Given the description of an element on the screen output the (x, y) to click on. 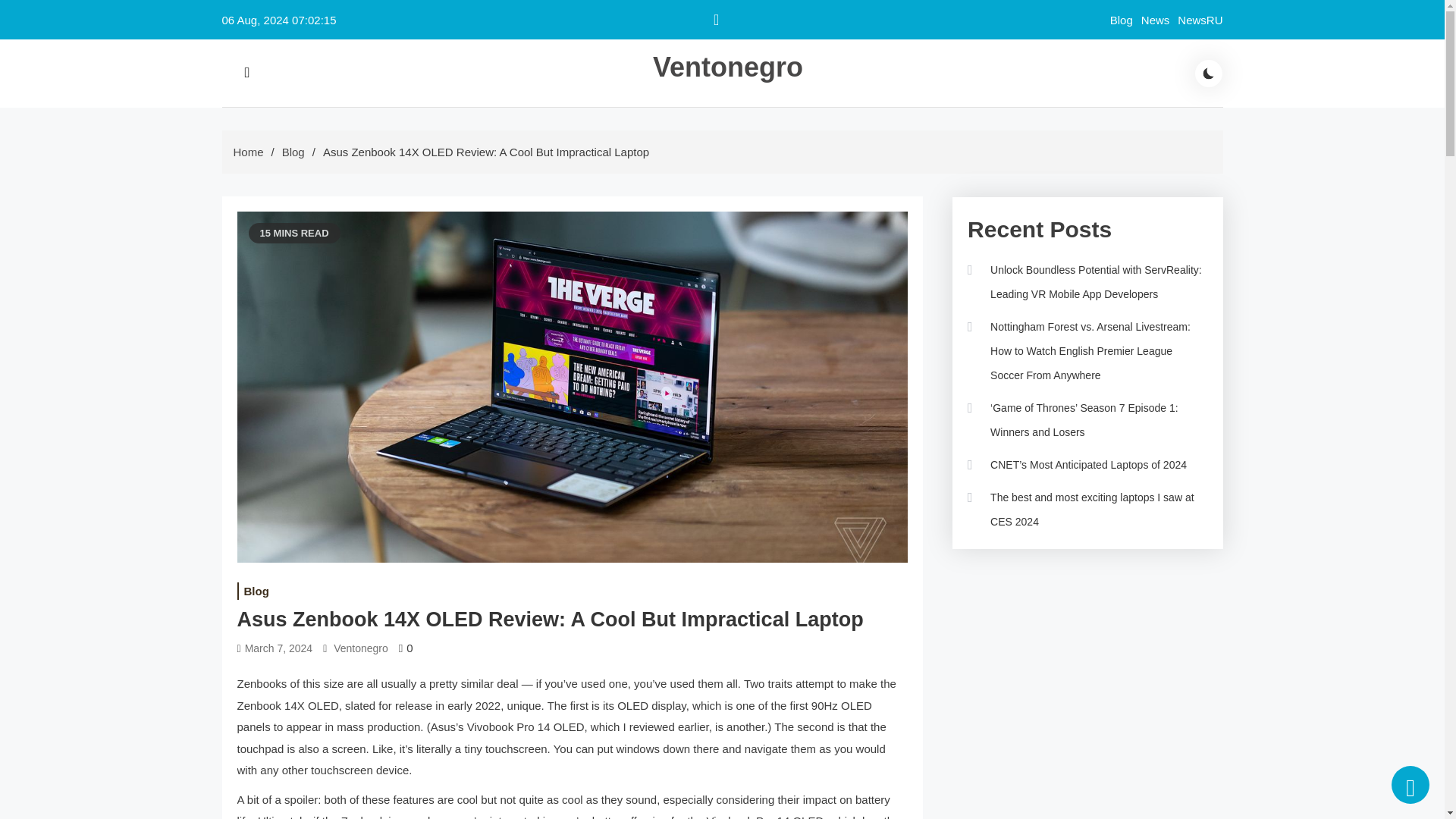
Blog (1120, 19)
Blog (293, 151)
News (1155, 19)
NewsRU (1200, 19)
Home (247, 151)
Ventonegro (360, 648)
March 7, 2024 (278, 648)
Search (417, 107)
Ventonegro (727, 66)
